Given the description of an element on the screen output the (x, y) to click on. 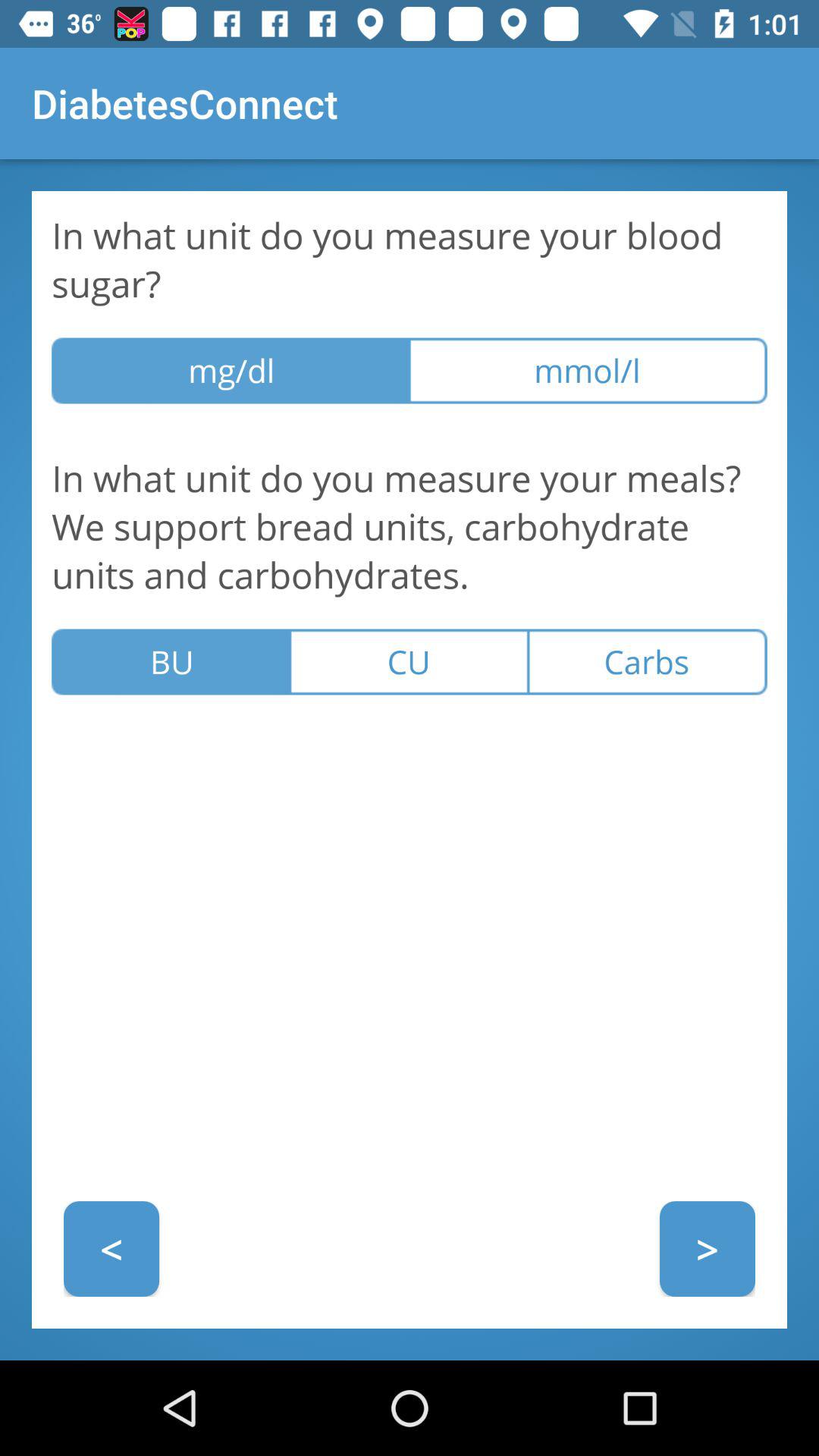
turn off mmol/l icon (588, 370)
